Given the description of an element on the screen output the (x, y) to click on. 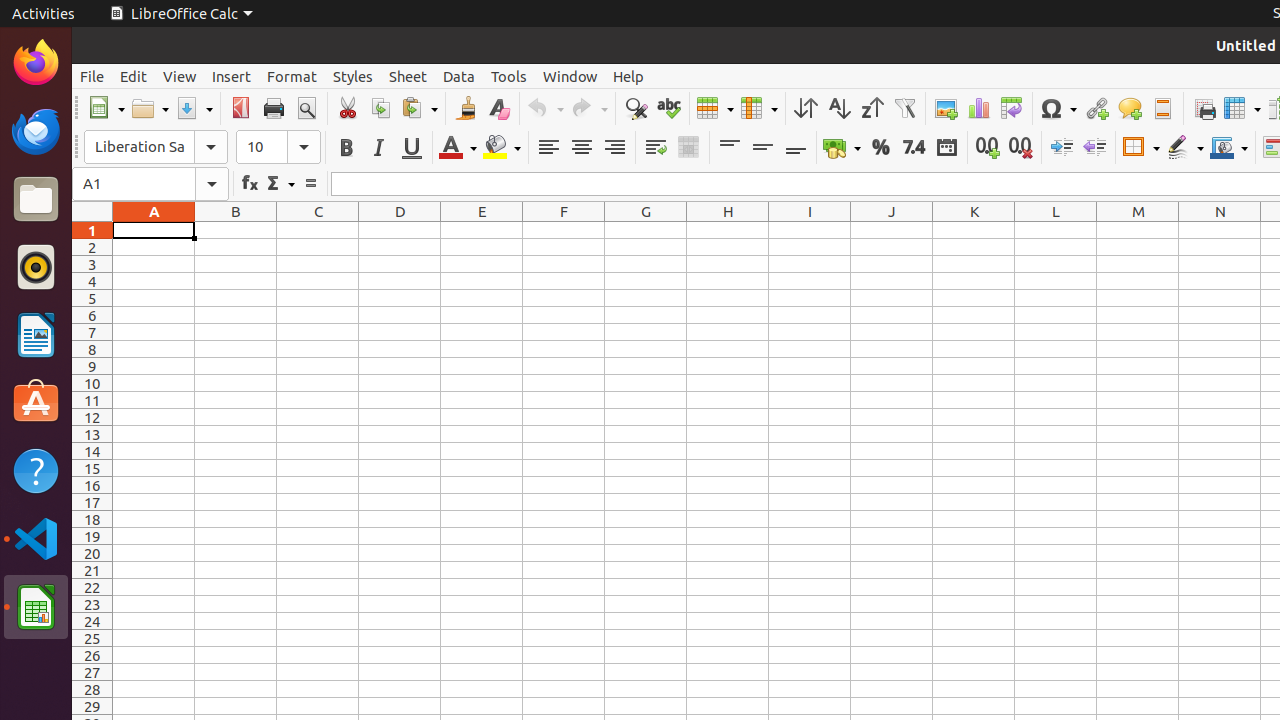
Edit Element type: menu (133, 76)
Background Color Element type: push-button (502, 147)
Italic Element type: toggle-button (378, 147)
Decrease Element type: push-button (1094, 147)
